Given the description of an element on the screen output the (x, y) to click on. 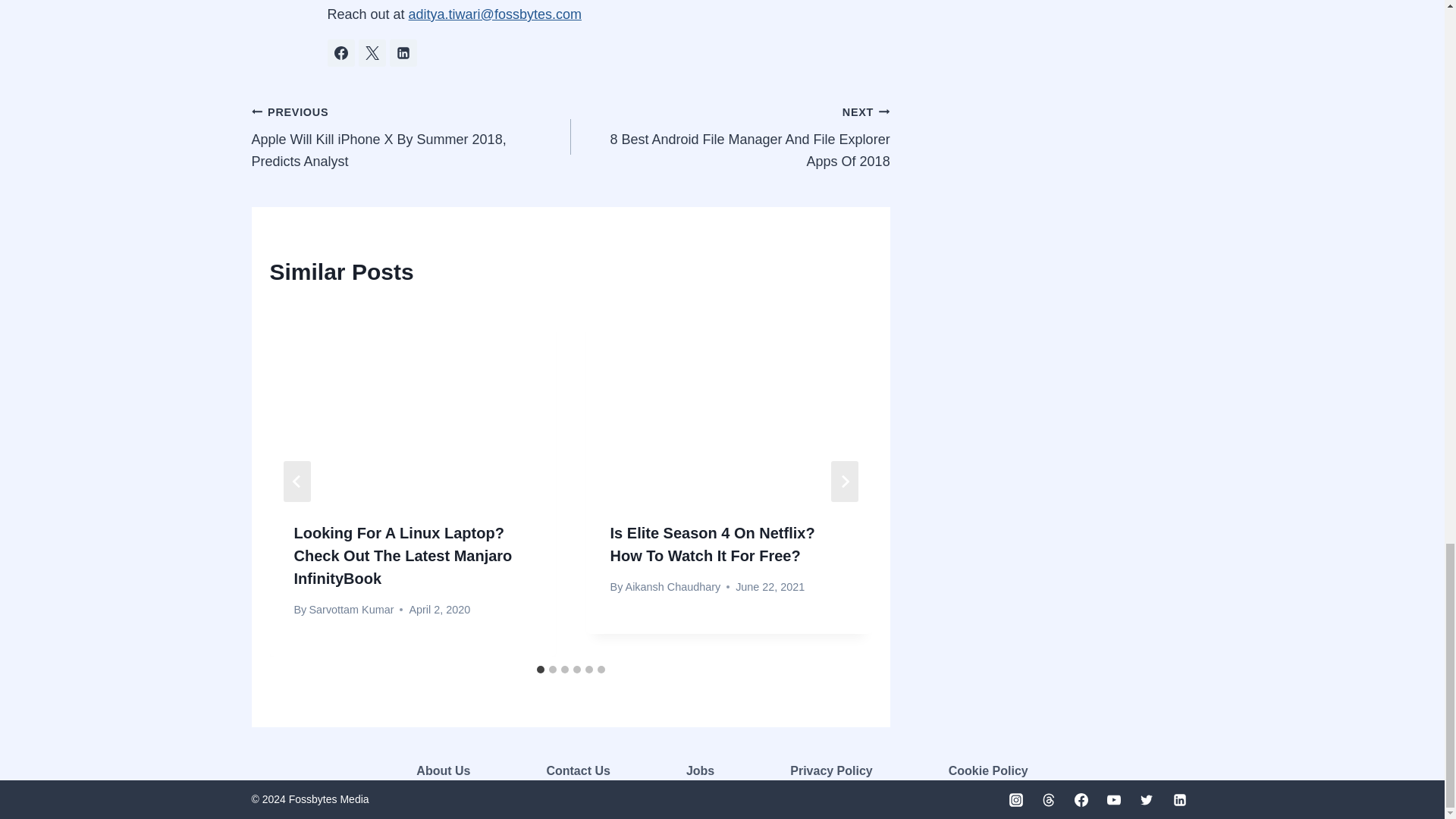
Aikansh Chaudhary (673, 586)
Follow Aditya Tiwari on Linkedin (403, 52)
Sarvottam Kumar (350, 609)
Is Elite Season 4 On Netflix? How To Watch It For Free? (712, 544)
Follow Aditya Tiwari on X formerly Twitter (371, 52)
Follow Aditya Tiwari on Facebook (341, 52)
